Given the description of an element on the screen output the (x, y) to click on. 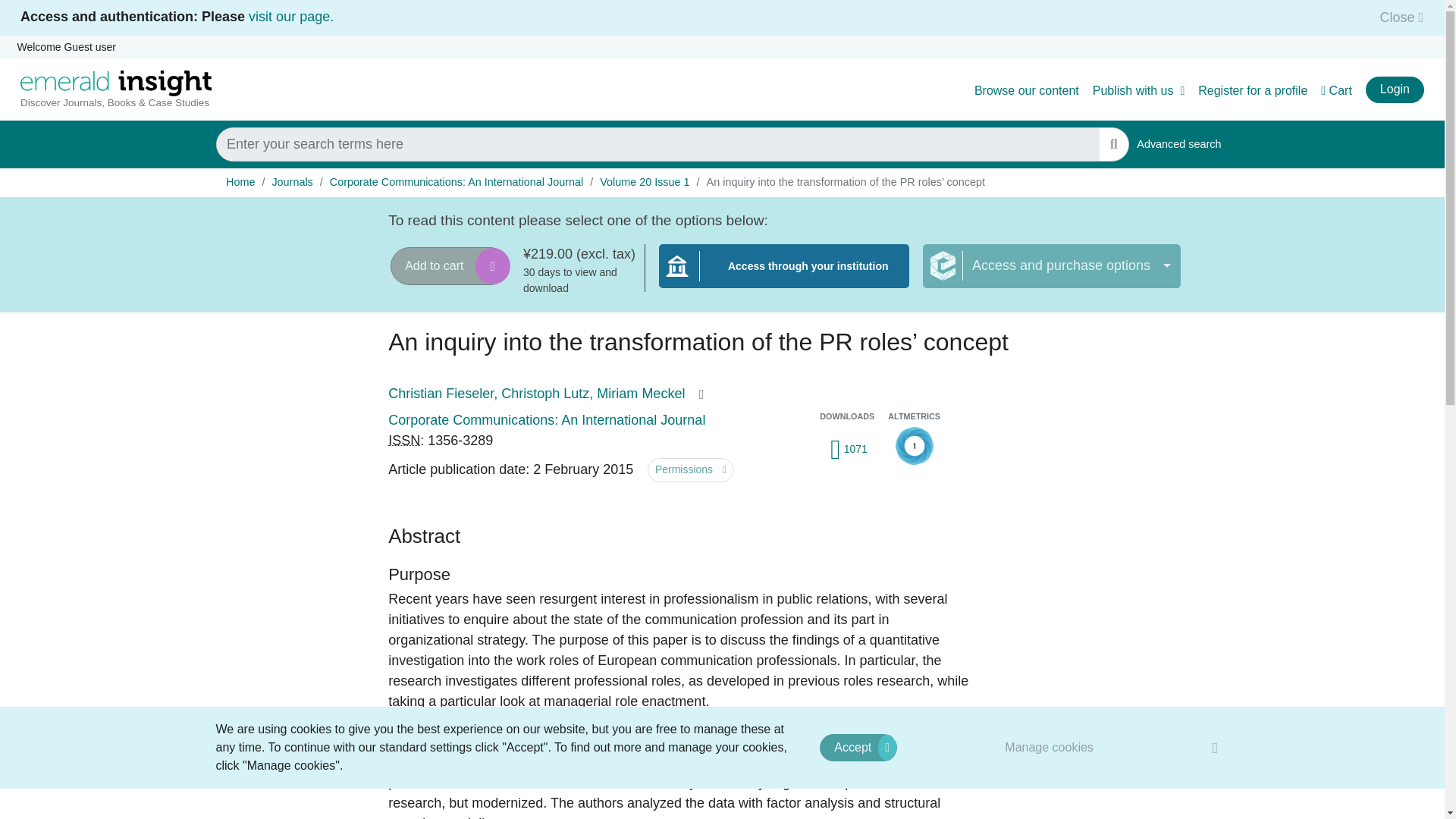
Home (1178, 144)
Cart (239, 182)
Access through your institution (1336, 90)
Publish with us (783, 275)
Manage cookies (1139, 90)
SUBMIT (1049, 747)
Journals (1113, 143)
visit our page. (291, 182)
Login (290, 16)
Close (1394, 89)
Accept (1397, 17)
International Standard Serial Number. (857, 747)
